Given the description of an element on the screen output the (x, y) to click on. 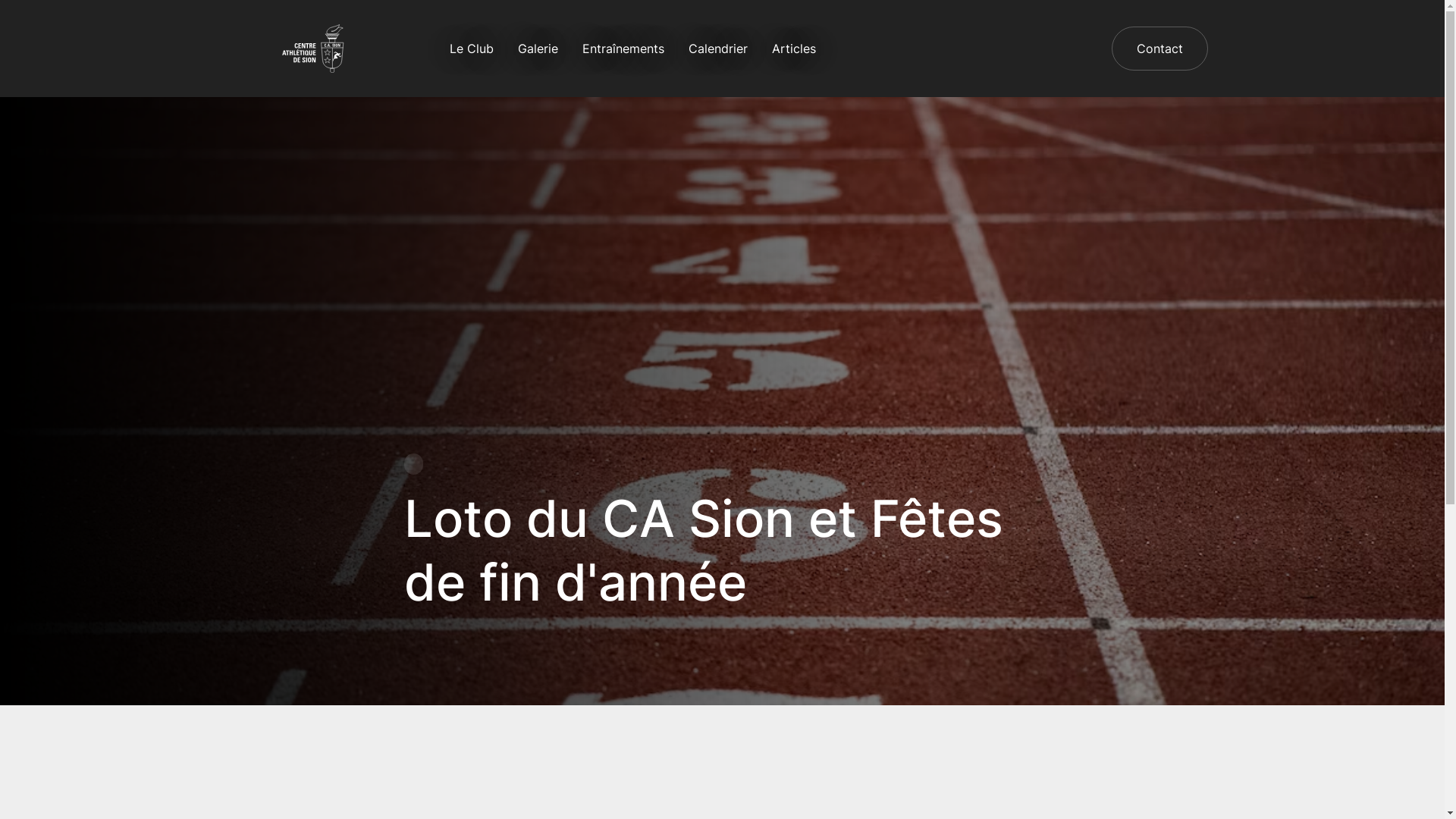
Calendrier Element type: text (717, 48)
Le Club Element type: text (470, 48)
Contact Element type: text (1159, 48)
Articles Element type: text (793, 48)
Galerie Element type: text (537, 48)
